Given the description of an element on the screen output the (x, y) to click on. 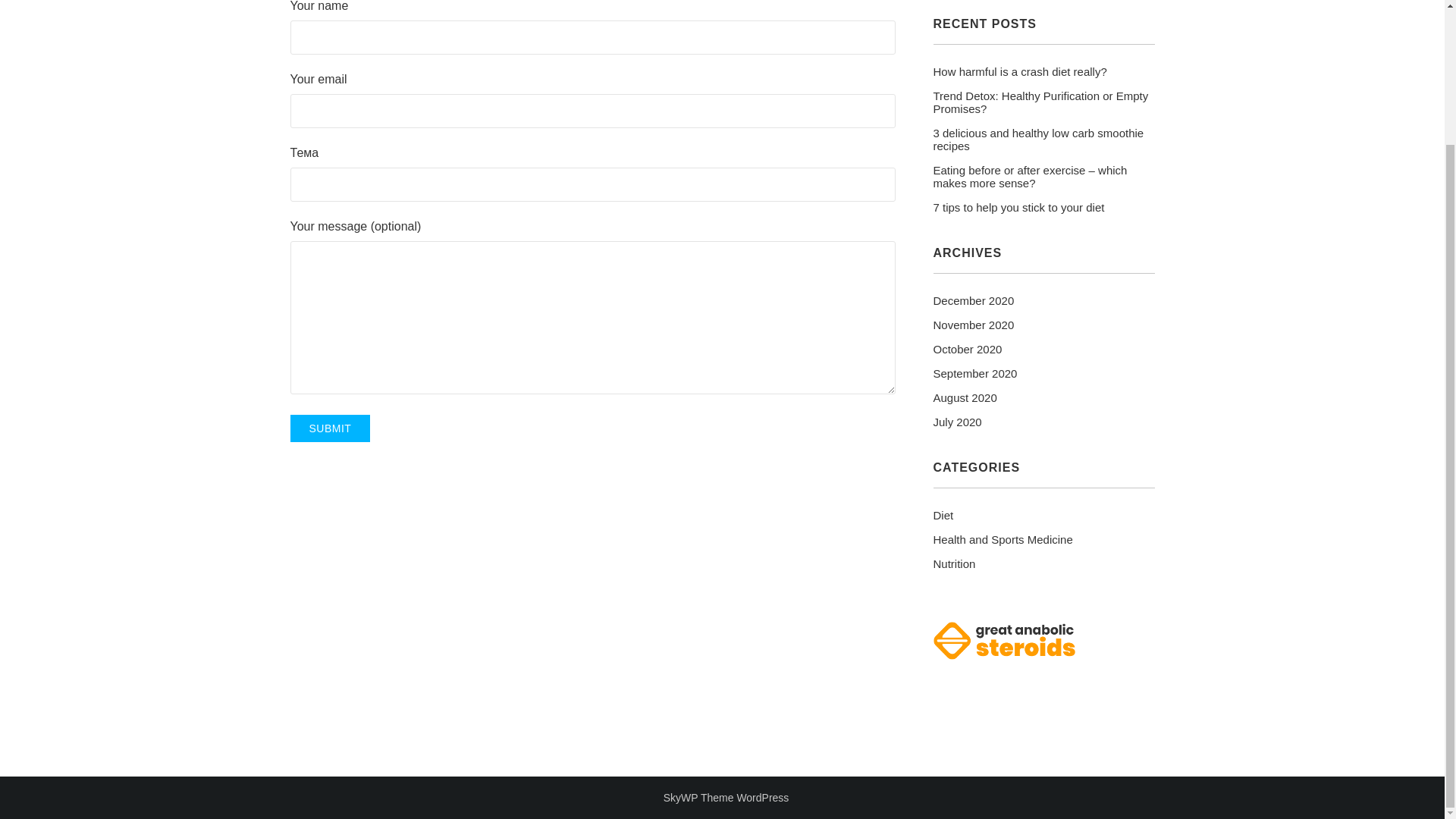
November 2020 (973, 324)
July 2020 (957, 421)
Trend Detox: Healthy Purification or Empty Promises? (1043, 102)
September 2020 (974, 373)
December 2020 (973, 300)
October 2020 (967, 349)
3 delicious and healthy low carb smoothie recipes (1043, 139)
Nutrition (954, 563)
August 2020 (964, 397)
How harmful is a crash diet really? (1019, 71)
Submit (329, 428)
SkyWP Theme WordPress (726, 797)
Diet (943, 514)
Health and Sports Medicine (1002, 539)
Submit (329, 428)
